Given the description of an element on the screen output the (x, y) to click on. 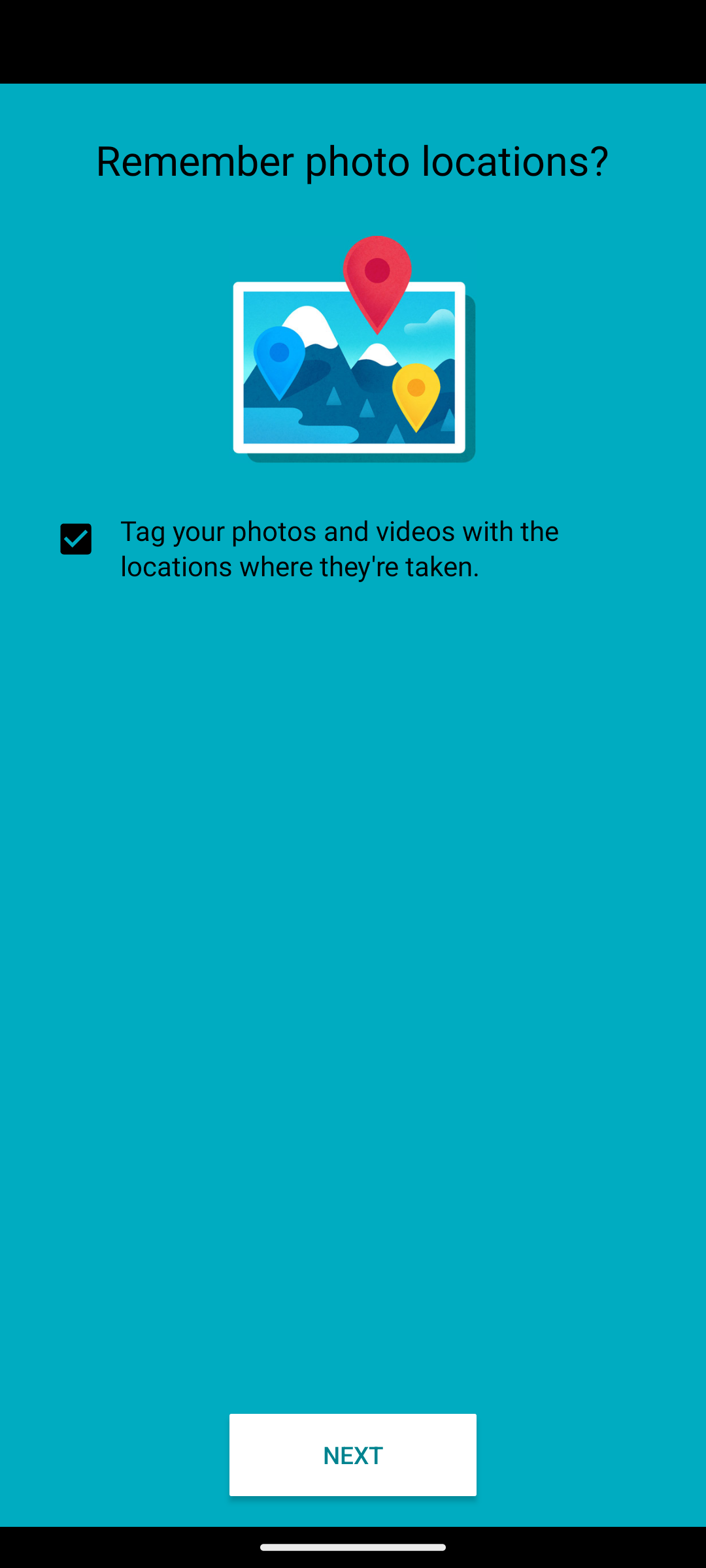
NEXT (352, 1454)
